Given the description of an element on the screen output the (x, y) to click on. 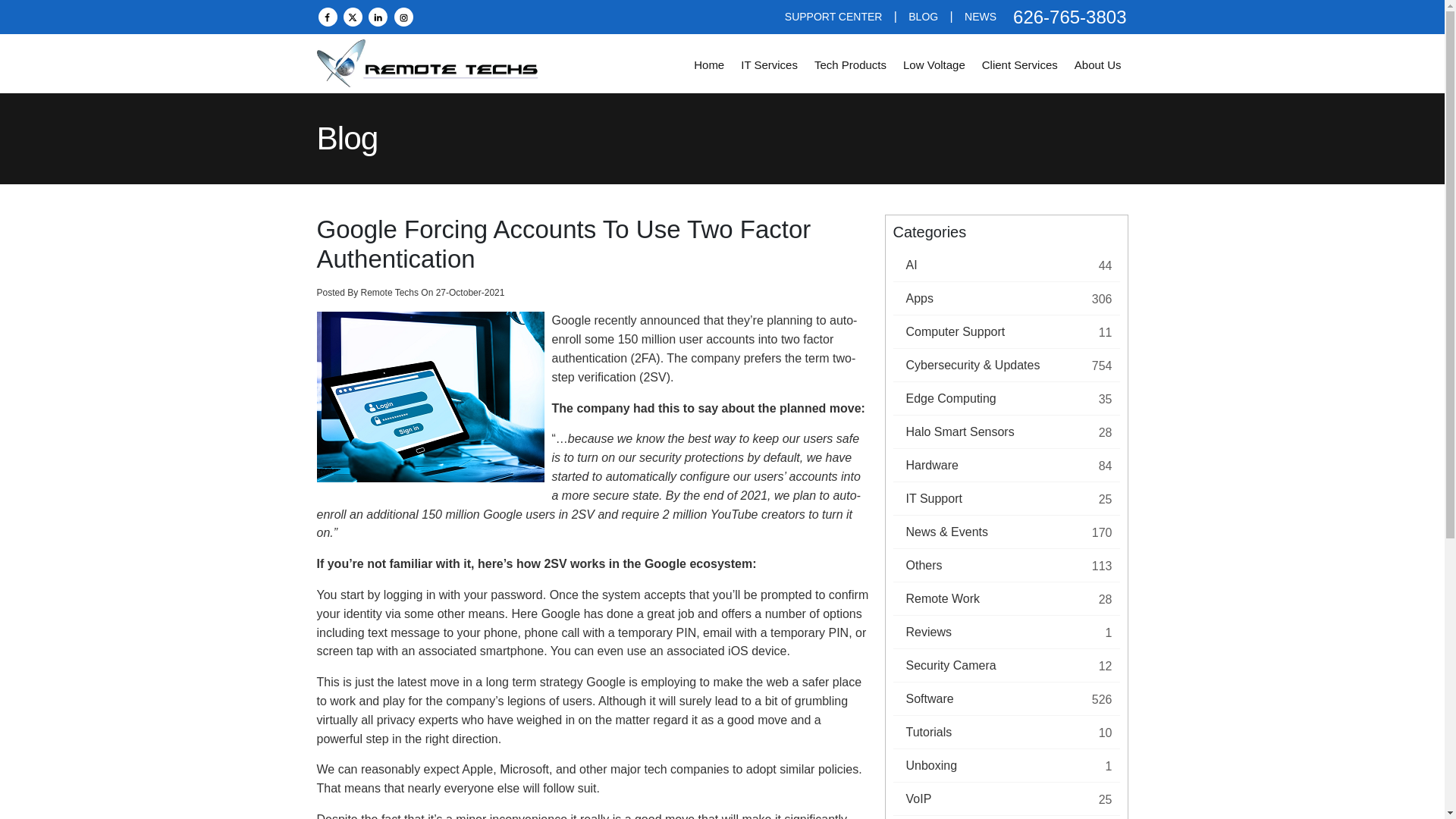
instagram (403, 16)
626-765-3803 (1061, 16)
Home (708, 65)
Logo (430, 62)
NEWS (979, 16)
facebook (328, 16)
Low Voltage (934, 65)
IT Services (769, 65)
twitter (353, 16)
SUPPORT CENTER (833, 16)
